Given the description of an element on the screen output the (x, y) to click on. 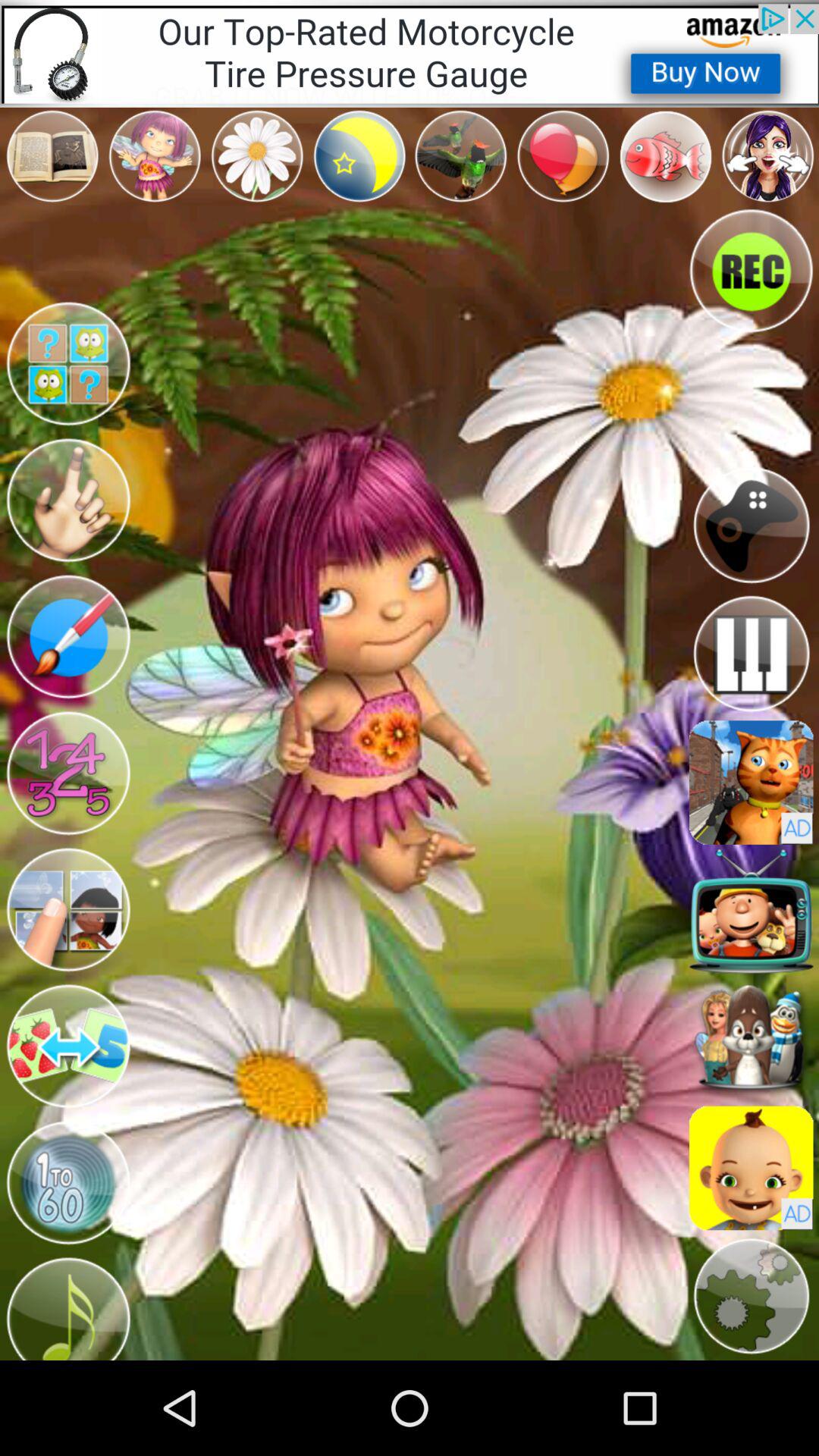
advertisement website (751, 782)
